Given the description of an element on the screen output the (x, y) to click on. 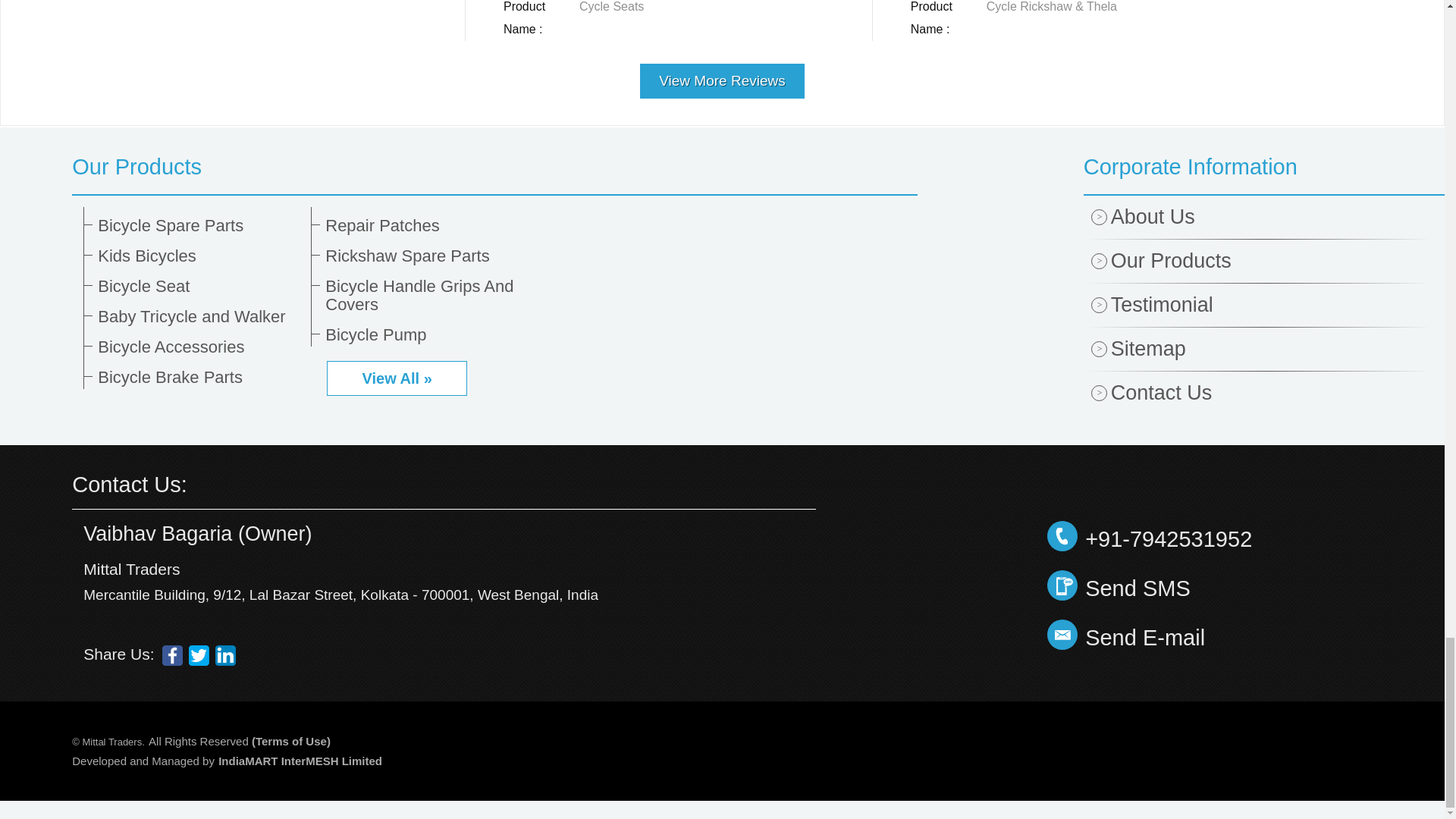
L (225, 655)
Contact Us: (129, 484)
IndiaMART InterMESH Limited (299, 760)
Bicycle Pump (426, 334)
Bicycle Spare Parts (198, 226)
T (199, 655)
Our Products (494, 167)
View More Reviews (721, 74)
Bicycle Brake Parts (198, 377)
Rickshaw Spare Parts (426, 256)
Bicycle Accessories (198, 347)
Baby Tricycle and Walker (198, 316)
Bicycle Handle Grips And Covers (426, 295)
Kids Bicycles (198, 256)
Repair Patches (426, 226)
